Given the description of an element on the screen output the (x, y) to click on. 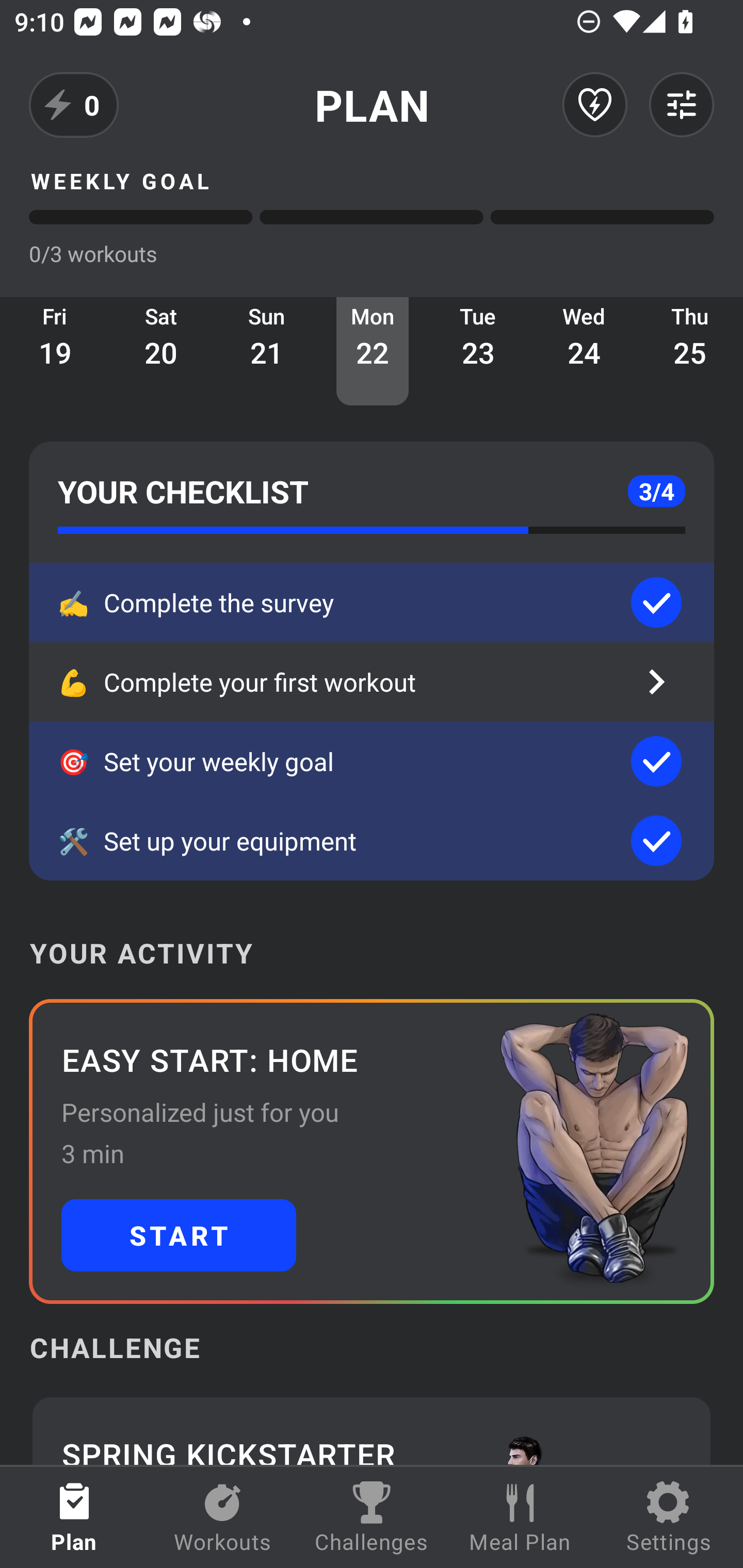
0 (73, 104)
Fri 19 (55, 351)
Sat 20 (160, 351)
Sun 21 (266, 351)
Mon 22 (372, 351)
Tue 23 (478, 351)
Wed 24 (584, 351)
Thu 25 (690, 351)
💪 Complete your first workout (371, 681)
START (178, 1235)
 Workouts  (222, 1517)
 Challenges  (371, 1517)
 Meal Plan  (519, 1517)
 Settings  (668, 1517)
